Given the description of an element on the screen output the (x, y) to click on. 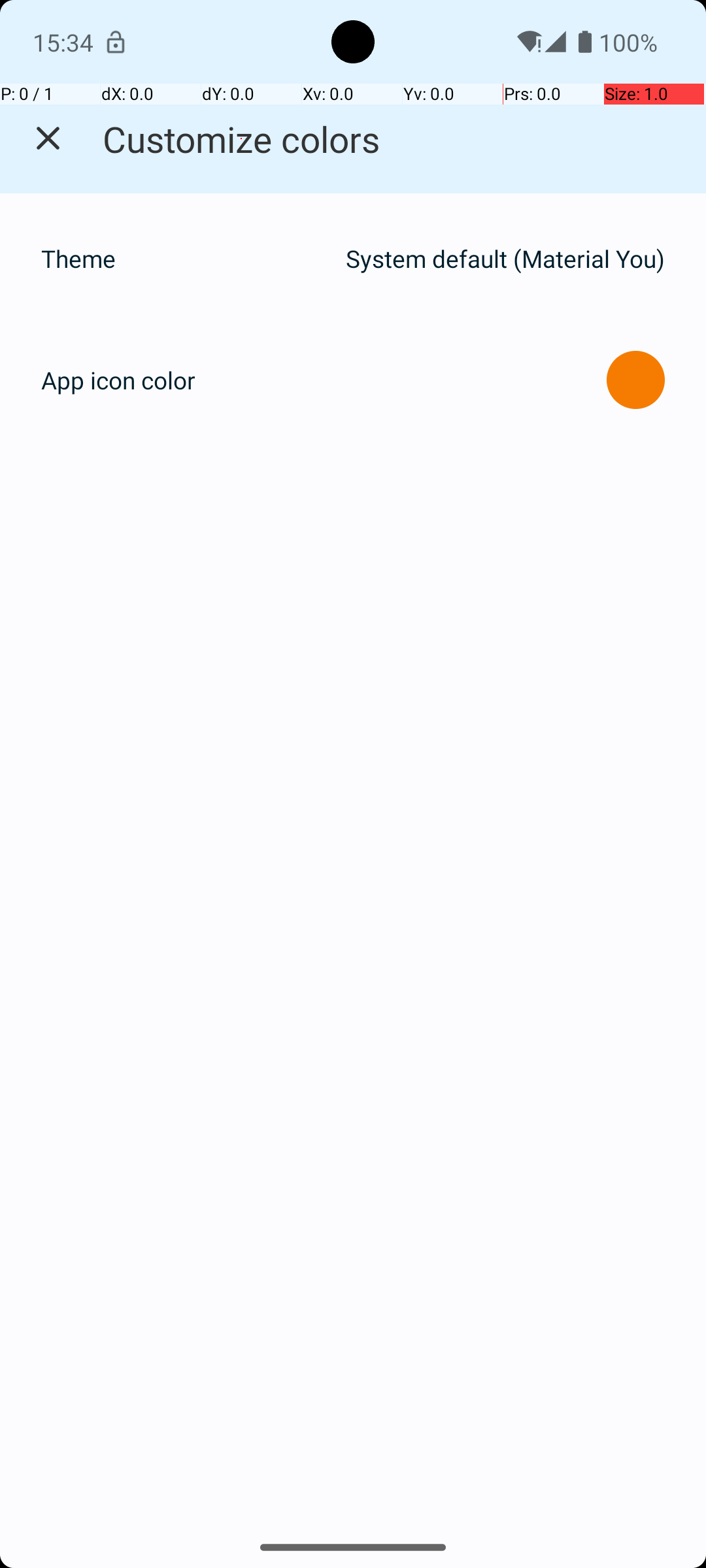
System default (Material You) Element type: android.widget.TextView (504, 258)
App icon color Element type: android.widget.TextView (118, 379)
